Given the description of an element on the screen output the (x, y) to click on. 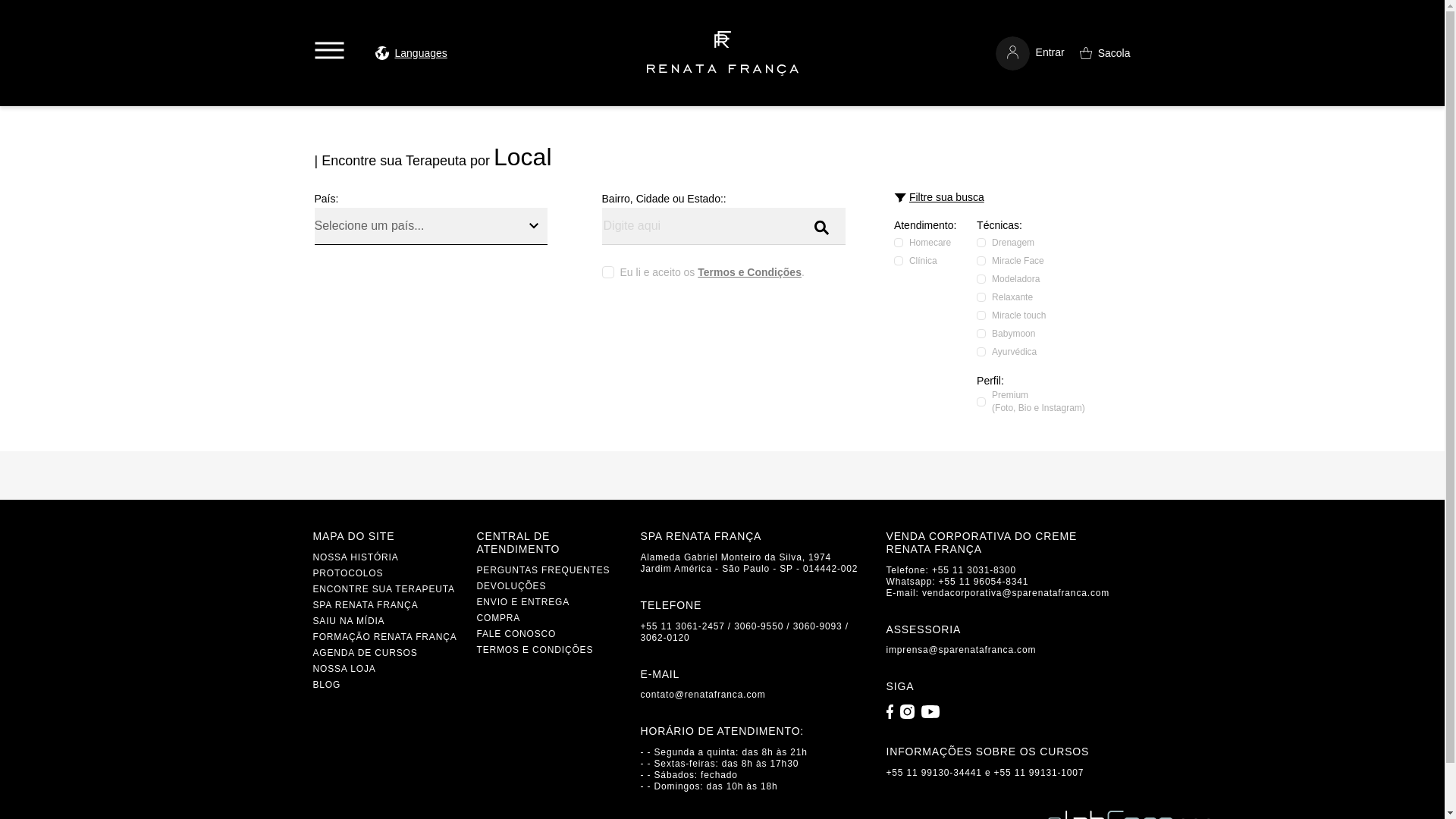
2429022b-ddfa-4894-97e4-8d8be262574d (980, 351)
Entrar (1029, 53)
dcfad047-2009-435d-aa72-5b36f9bebceb (980, 278)
PROTOCOLOS (347, 573)
3d965c46-68ce-43fb-97aa-4da39fdd77df (980, 333)
true (897, 260)
true (980, 401)
1ca88959-5362-4a30-8532-aaecb8f044af (980, 242)
41764e3c-d234-4098-a0af-adba0709bbc8 (980, 297)
accepted (608, 272)
